Given the description of an element on the screen output the (x, y) to click on. 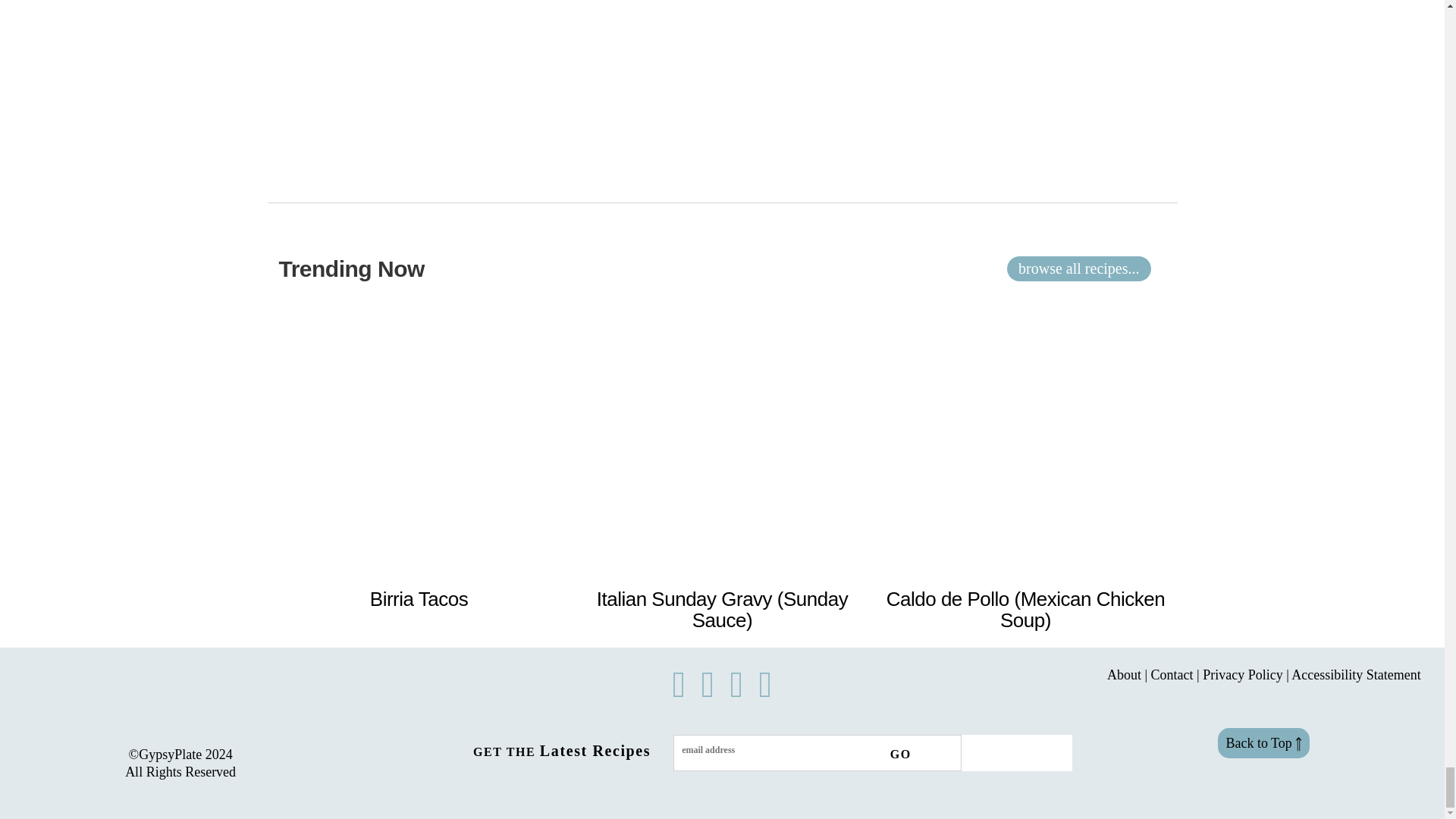
GO (893, 753)
Flank Steak Fajitas (418, 599)
Flank Steak Fajitas (1025, 610)
Flank Steak Fajitas (721, 610)
